Given the description of an element on the screen output the (x, y) to click on. 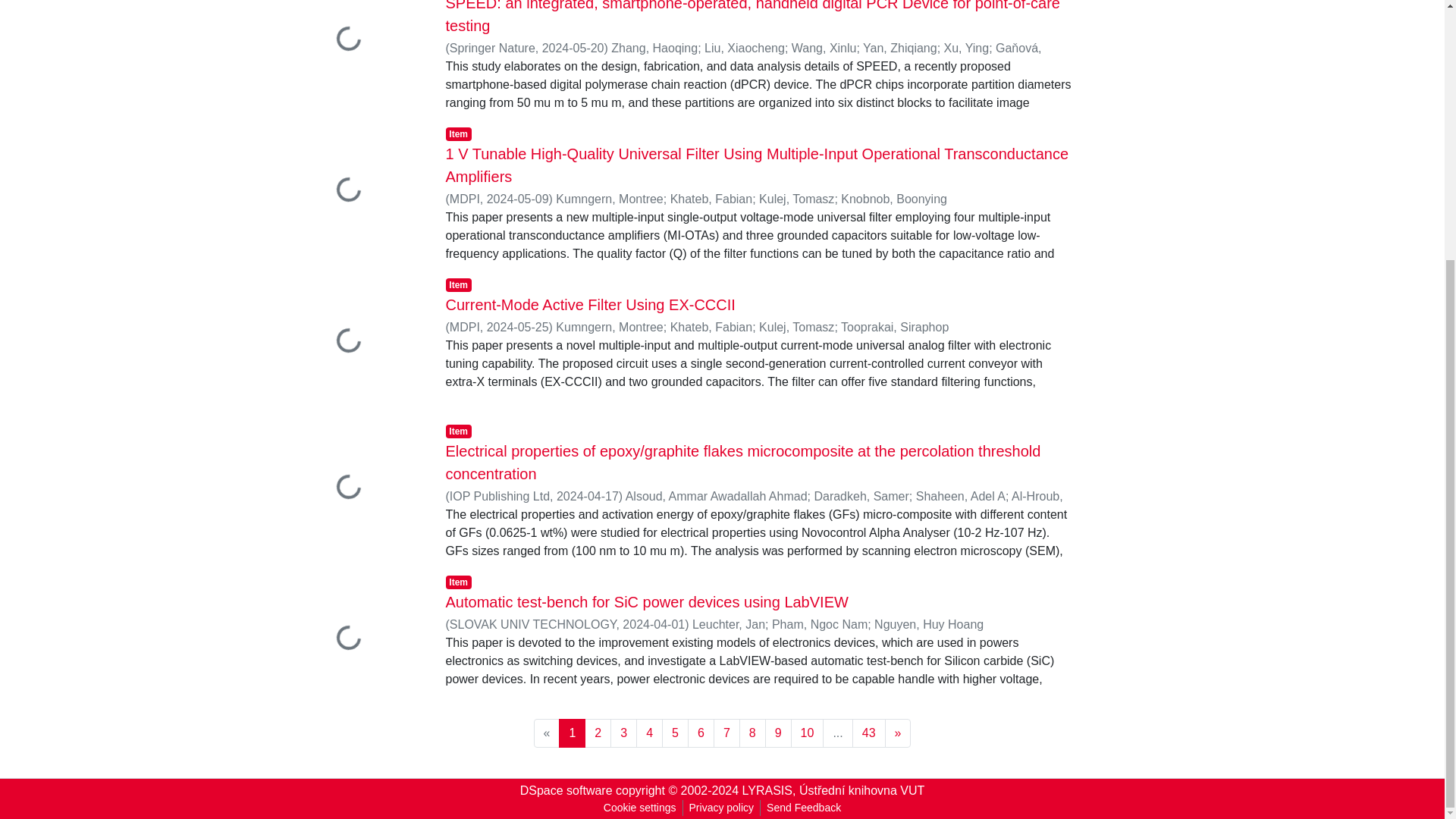
Loading... (362, 342)
Loading... (362, 191)
Loading... (362, 639)
Loading... (362, 53)
Automatic test-bench for SiC power devices using LabVIEW (646, 601)
Loading... (362, 488)
Current-Mode Active Filter Using EX-CCCII (590, 304)
